Given the description of an element on the screen output the (x, y) to click on. 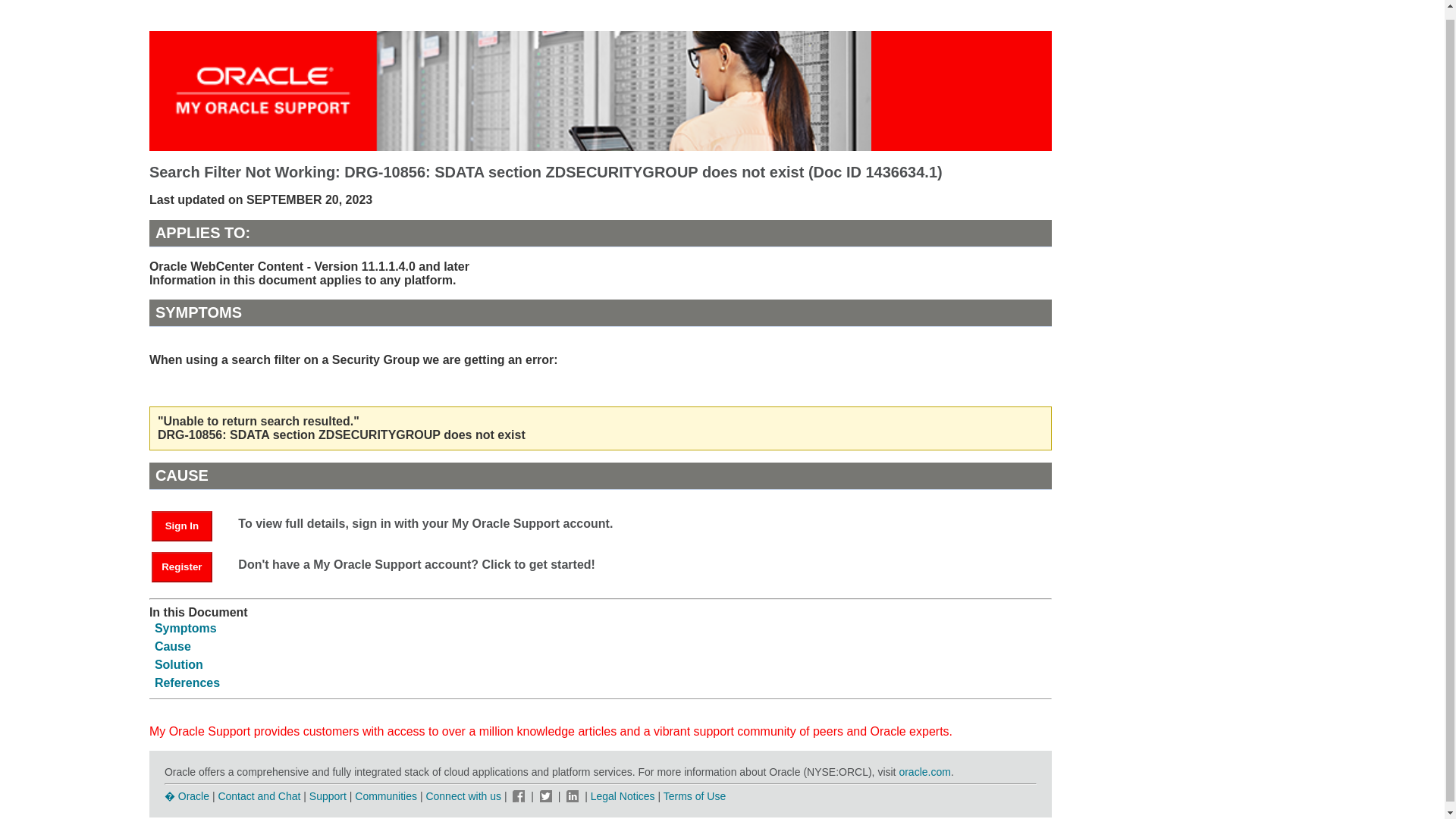
Legal Notices (623, 796)
Register (181, 567)
Terms of Use (694, 796)
Sign In (181, 526)
Sign In (189, 524)
Support (327, 796)
References (186, 682)
Connect with us (464, 796)
oracle.com (924, 771)
Symptoms (185, 627)
oracle.com (924, 771)
Contact and Chat (257, 796)
Cause (172, 645)
Register (189, 565)
Solution (178, 664)
